Given the description of an element on the screen output the (x, y) to click on. 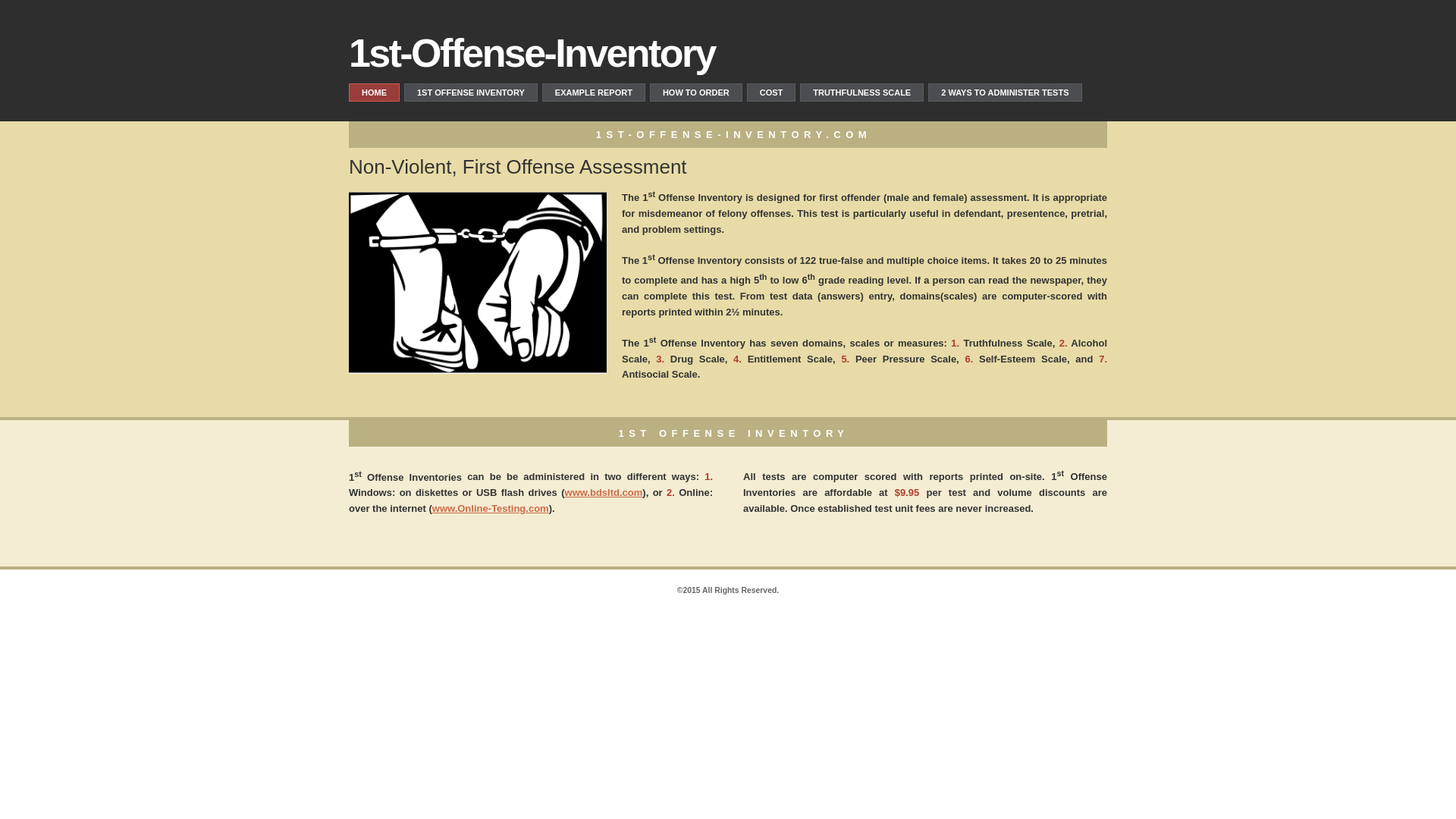
EXAMPLE REPORT Element type: text (593, 92)
www.bdsltd.com Element type: text (603, 492)
HOME Element type: text (373, 92)
TRUTHFULNESS SCALE Element type: text (861, 92)
1ST OFFENSE INVENTORY Element type: text (470, 92)
HOW TO ORDER Element type: text (695, 92)
1st-Offense-Inventory Element type: text (531, 53)
COST Element type: text (771, 92)
www.Online-Testing.com Element type: text (490, 508)
2 WAYS TO ADMINISTER TESTS Element type: text (1004, 92)
